Given the description of an element on the screen output the (x, y) to click on. 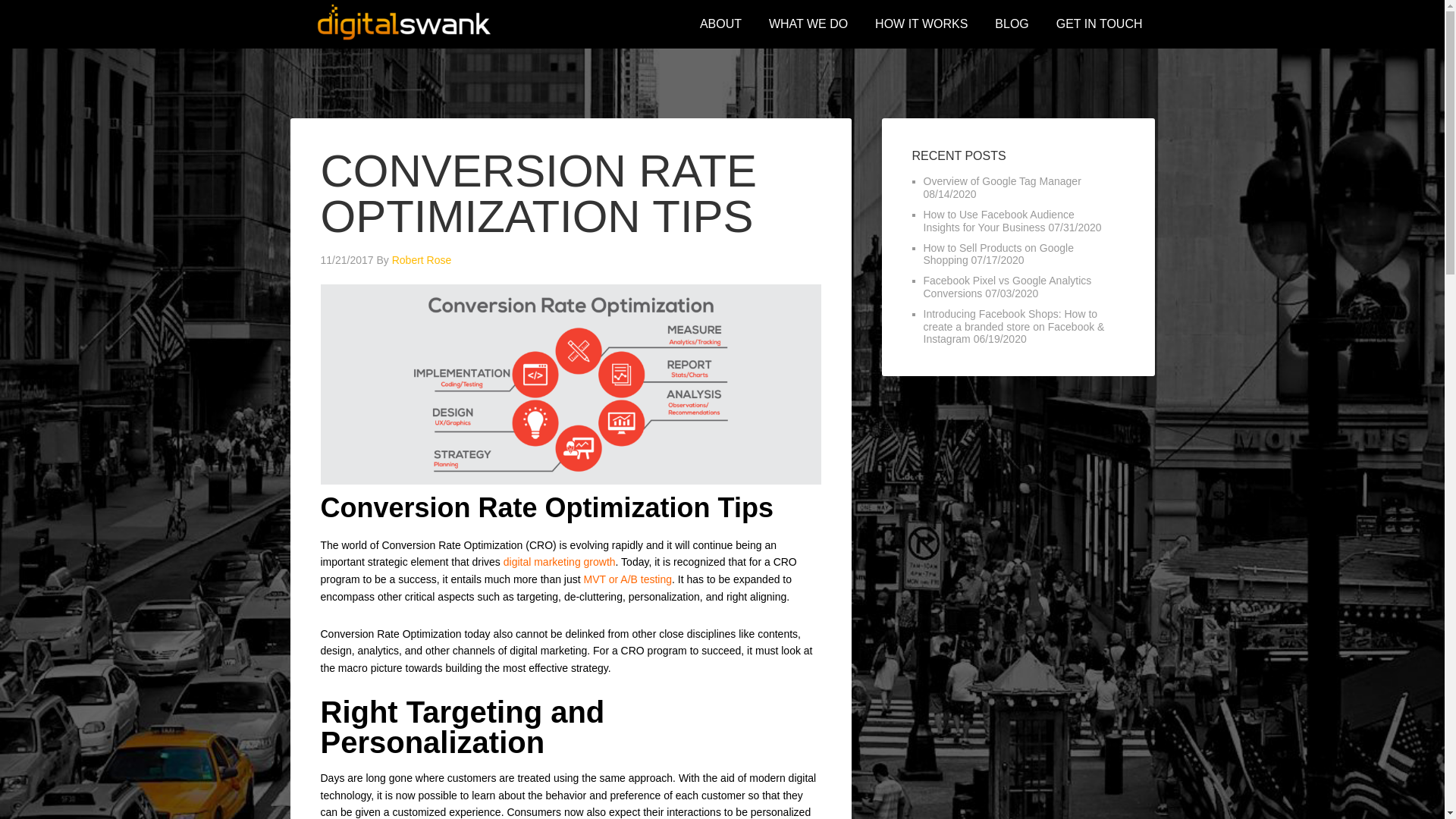
How to Use Facebook Audience Insights for Your Business (998, 220)
DIGITAL SWANK (402, 22)
Overview of Google Tag Manager (1002, 181)
WHAT WE DO (808, 24)
Facebook Pixel vs Google Analytics Conversions (1007, 286)
digital marketing growth (559, 562)
BLOG (1011, 24)
Enhance your Brand Image, Let us push your Brand Forward, (1098, 24)
HOW IT WORKS (921, 24)
ABOUT (720, 24)
How to Sell Products on Google Shopping (998, 253)
GET IN TOUCH (1098, 24)
CONVERSION RATE OPTIMIZATION TIPS (538, 193)
We have a mobile first strategy with moving Brands forward. (720, 24)
